Given the description of an element on the screen output the (x, y) to click on. 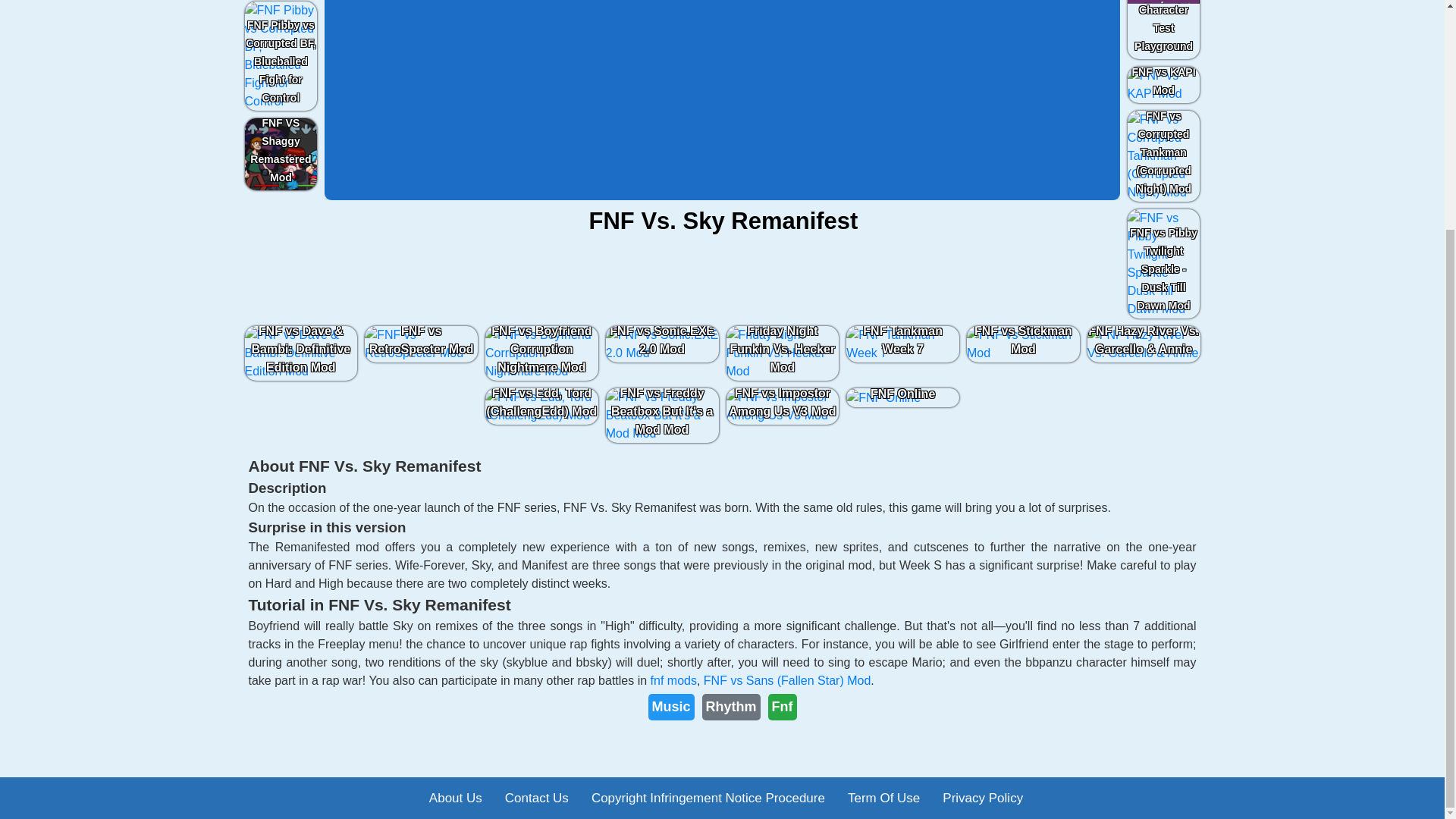
FNF VS Shaggy Remastered Mod (281, 153)
FNF Tankman Week 7 (902, 343)
FNF vs Sonic.EXE 2.0 Mod (662, 343)
FNF VS Shaggy Remastered Mod (280, 153)
FNF vs KAPI Mod (1162, 84)
FNF vs Stickman Mod (1022, 343)
FNF Character Test Playground (1164, 29)
Friday Night Funkin Vs. Hecker Mod (782, 352)
FNF vs KAPI Mod (1164, 84)
FNF vs RetroSpecter Mod (421, 343)
